Given the description of an element on the screen output the (x, y) to click on. 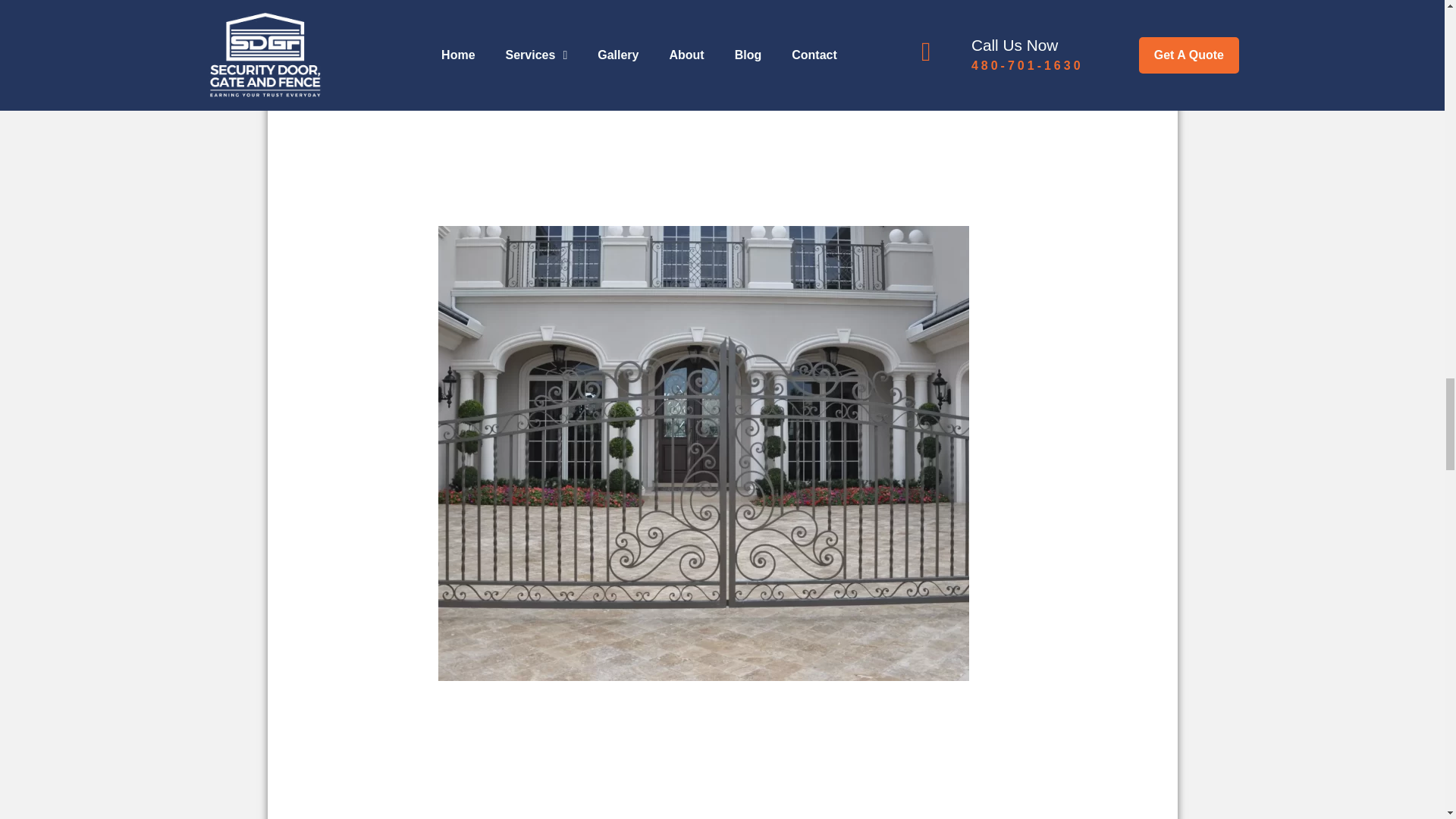
C6 (528, 48)
